Given the description of an element on the screen output the (x, y) to click on. 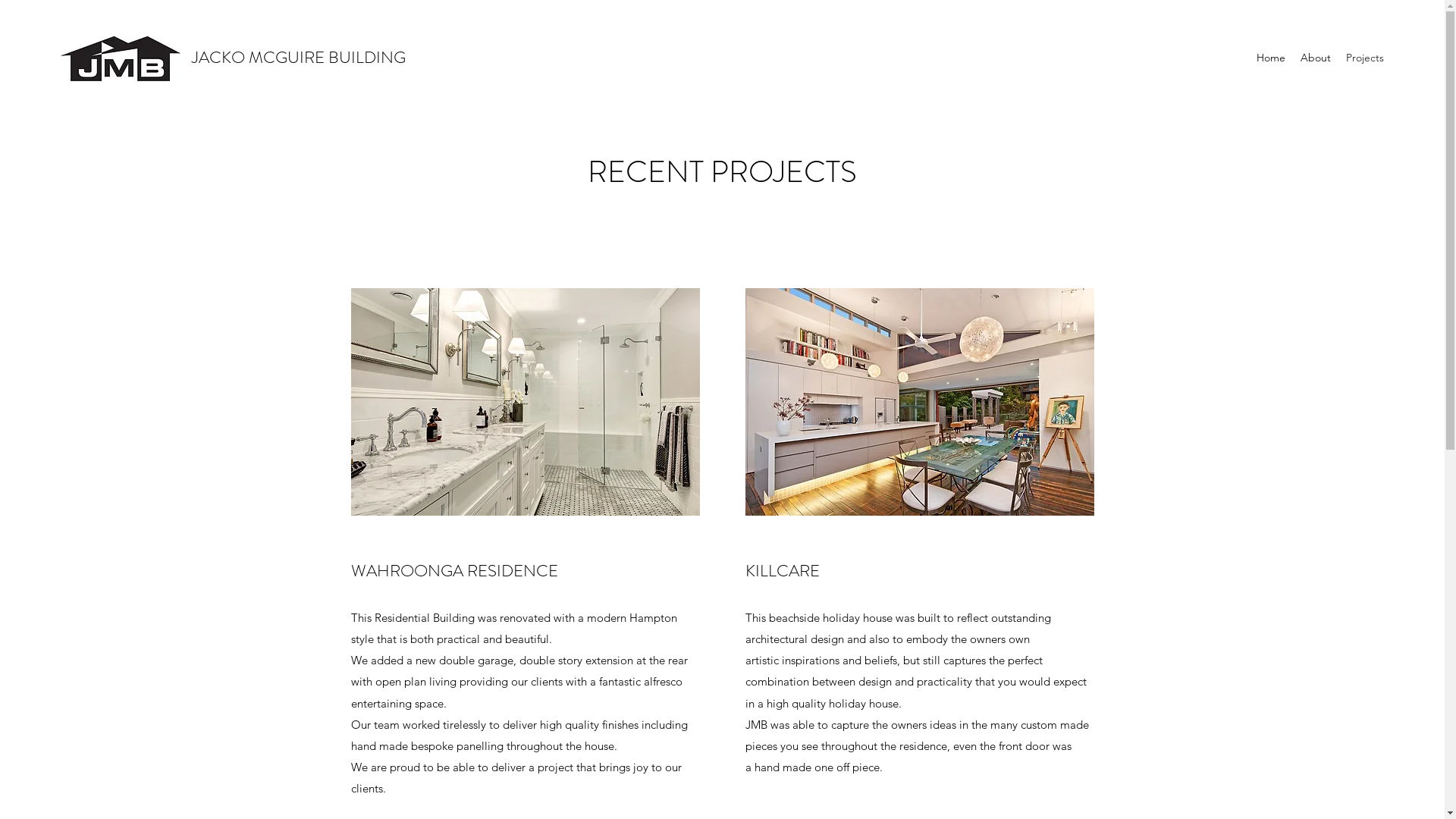
JACKO MCGUIRE BUILDING Element type: text (298, 57)
About Element type: text (1315, 57)
Home Element type: text (1270, 57)
Projects Element type: text (1364, 57)
